Given the description of an element on the screen output the (x, y) to click on. 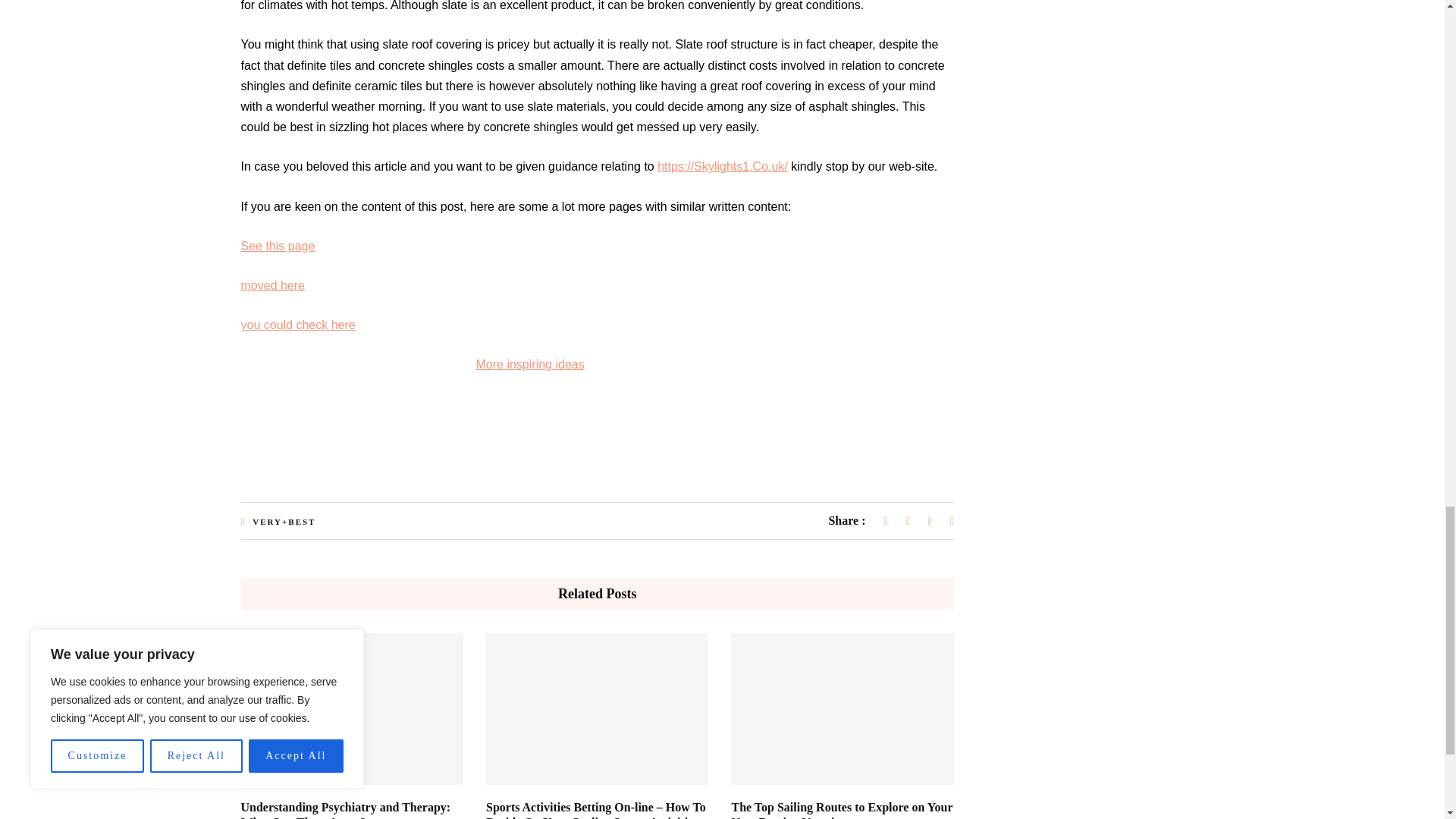
moved here (273, 285)
More inspiring ideas (530, 364)
Understanding Psychiatry and Therapy: What Sets Them Apart? (346, 809)
you could check here (298, 324)
See this page (278, 245)
